Given the description of an element on the screen output the (x, y) to click on. 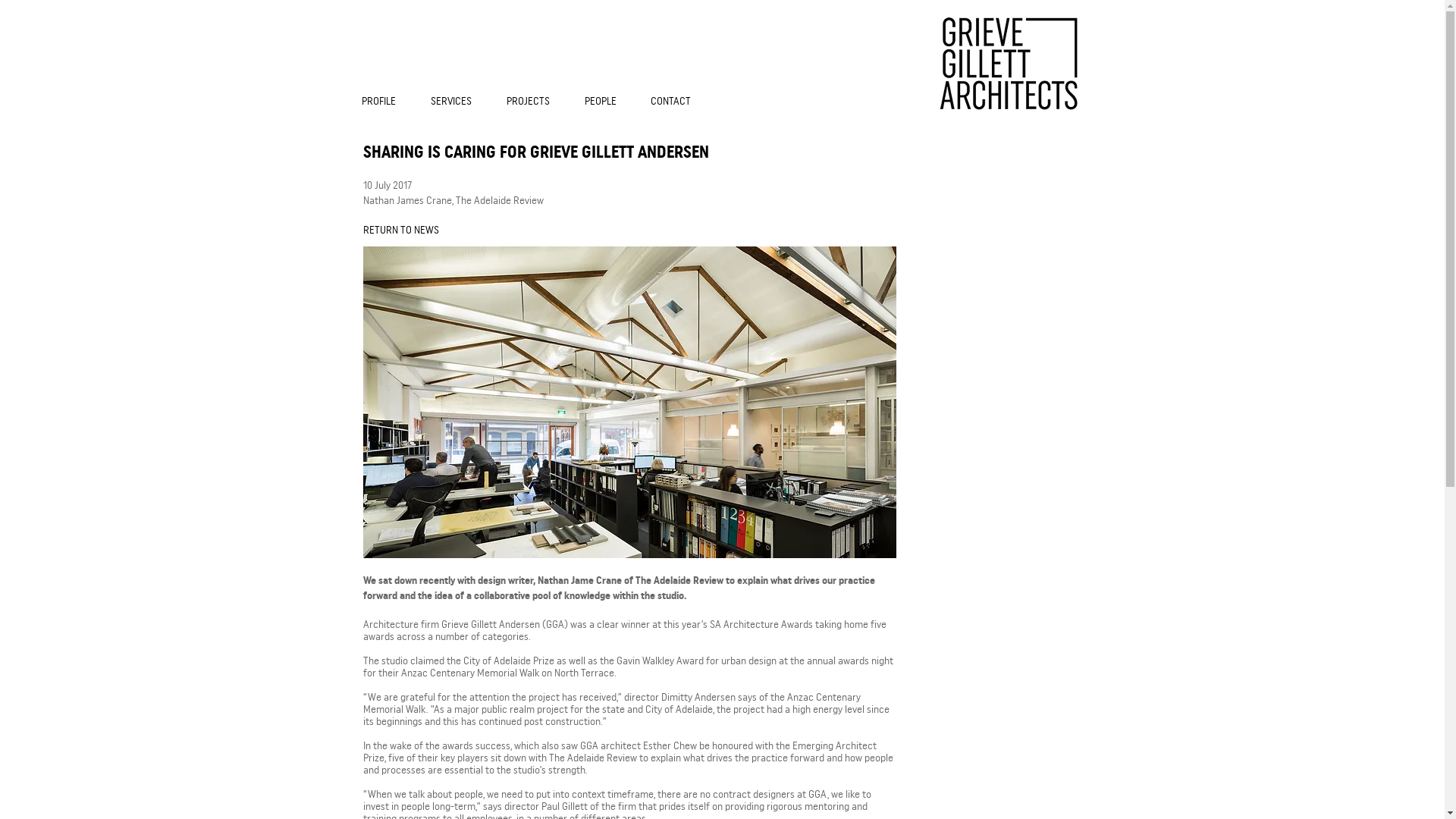
PROJECTS Element type: text (534, 100)
PEOPLE Element type: text (606, 100)
CONTACT Element type: text (677, 100)
RETURN TO NEWS Element type: text (411, 230)
GGA_logo_web.png Element type: hover (1009, 63)
